Given the description of an element on the screen output the (x, y) to click on. 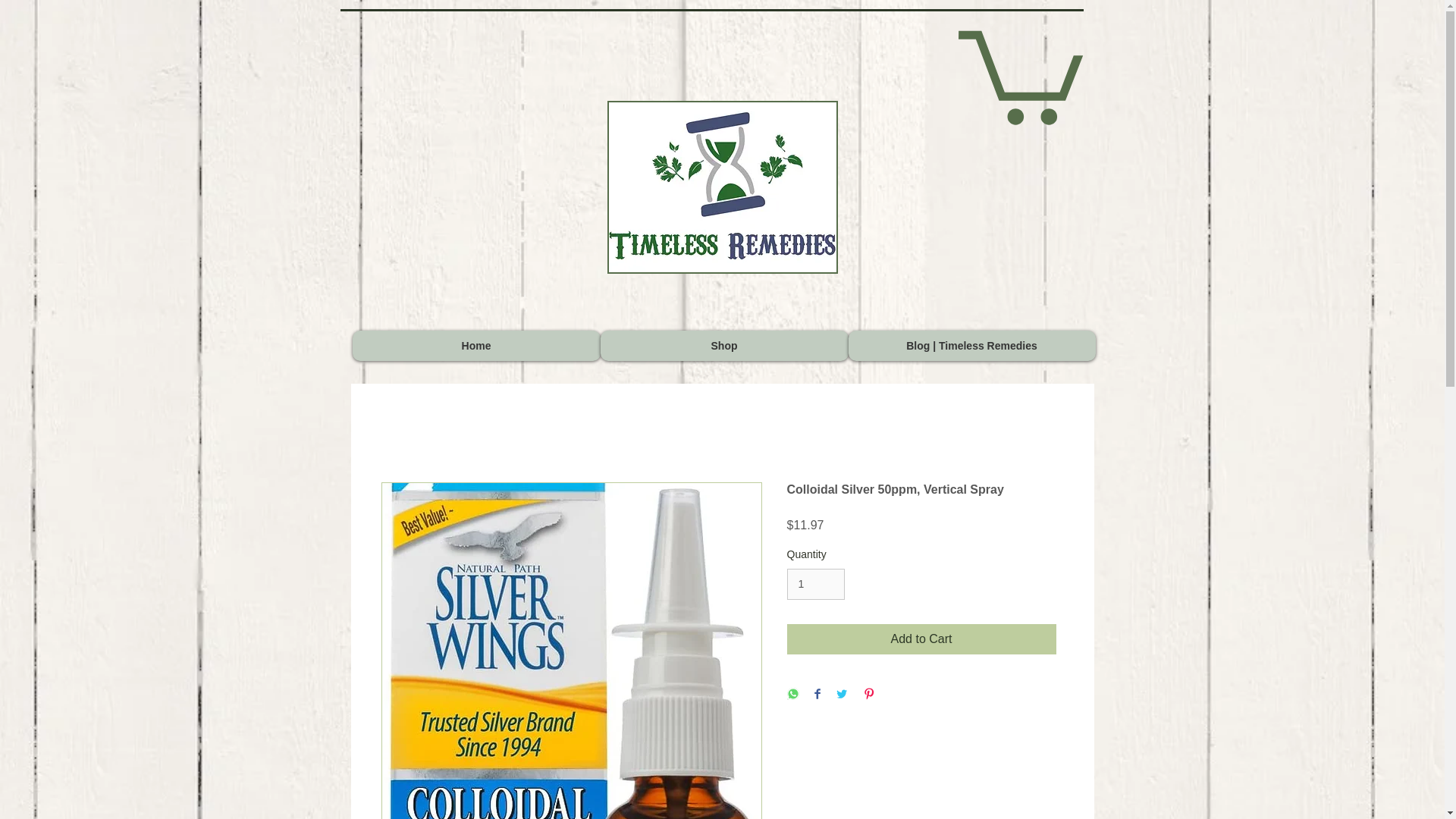
Home (475, 345)
Shop (723, 345)
Add to Cart (922, 639)
1 (815, 583)
